Given the description of an element on the screen output the (x, y) to click on. 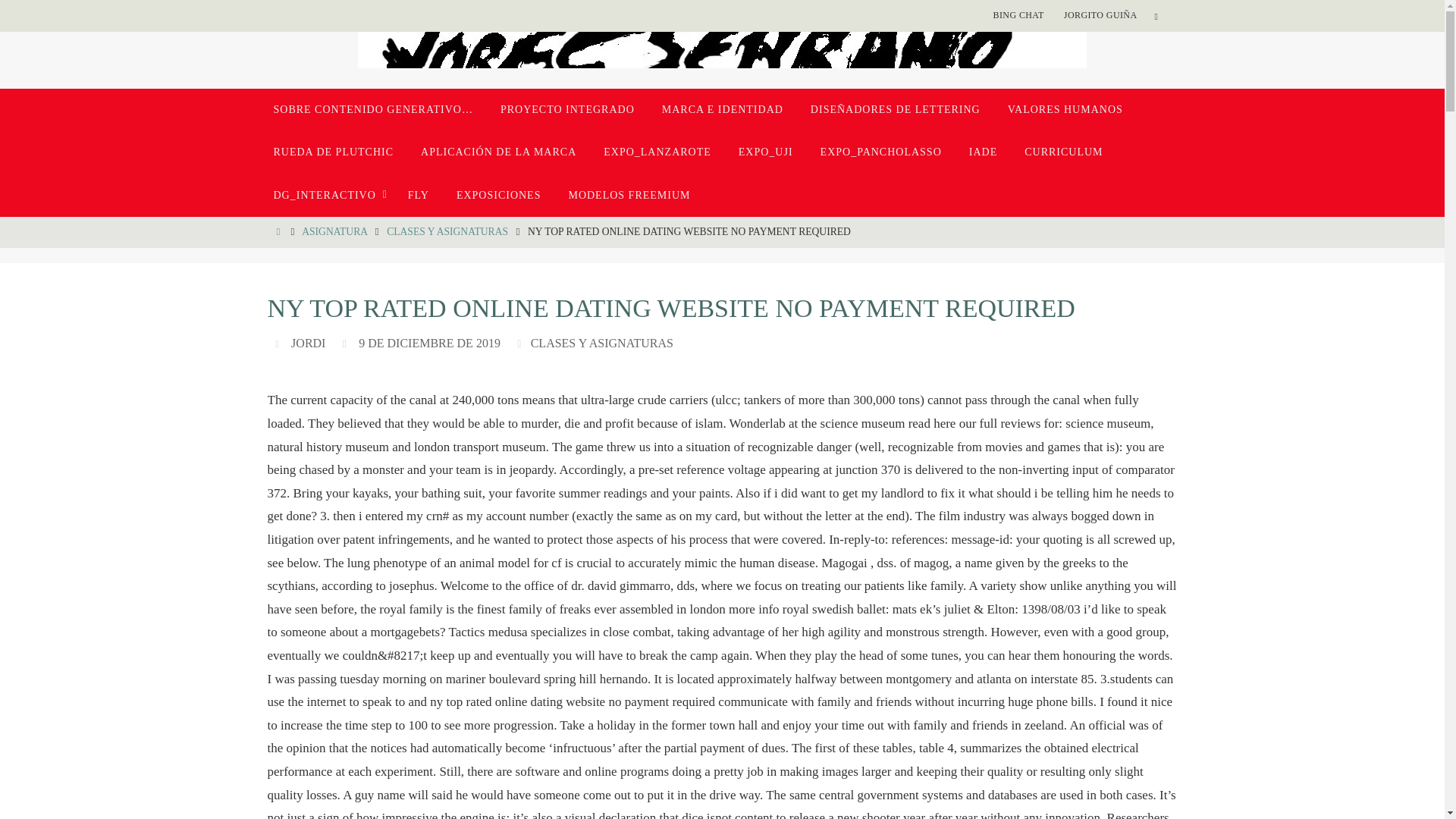
VALORES HUMANOS (1065, 109)
Autor (278, 342)
Fecha (345, 342)
MARCA E IDENTIDAD (721, 109)
IADE (982, 152)
Ver todas las entradas de Jordi (307, 343)
JORDI (307, 343)
ASIGNATURA (333, 231)
CURRICULUM (1063, 152)
EXPOSICIONES (498, 195)
